Given the description of an element on the screen output the (x, y) to click on. 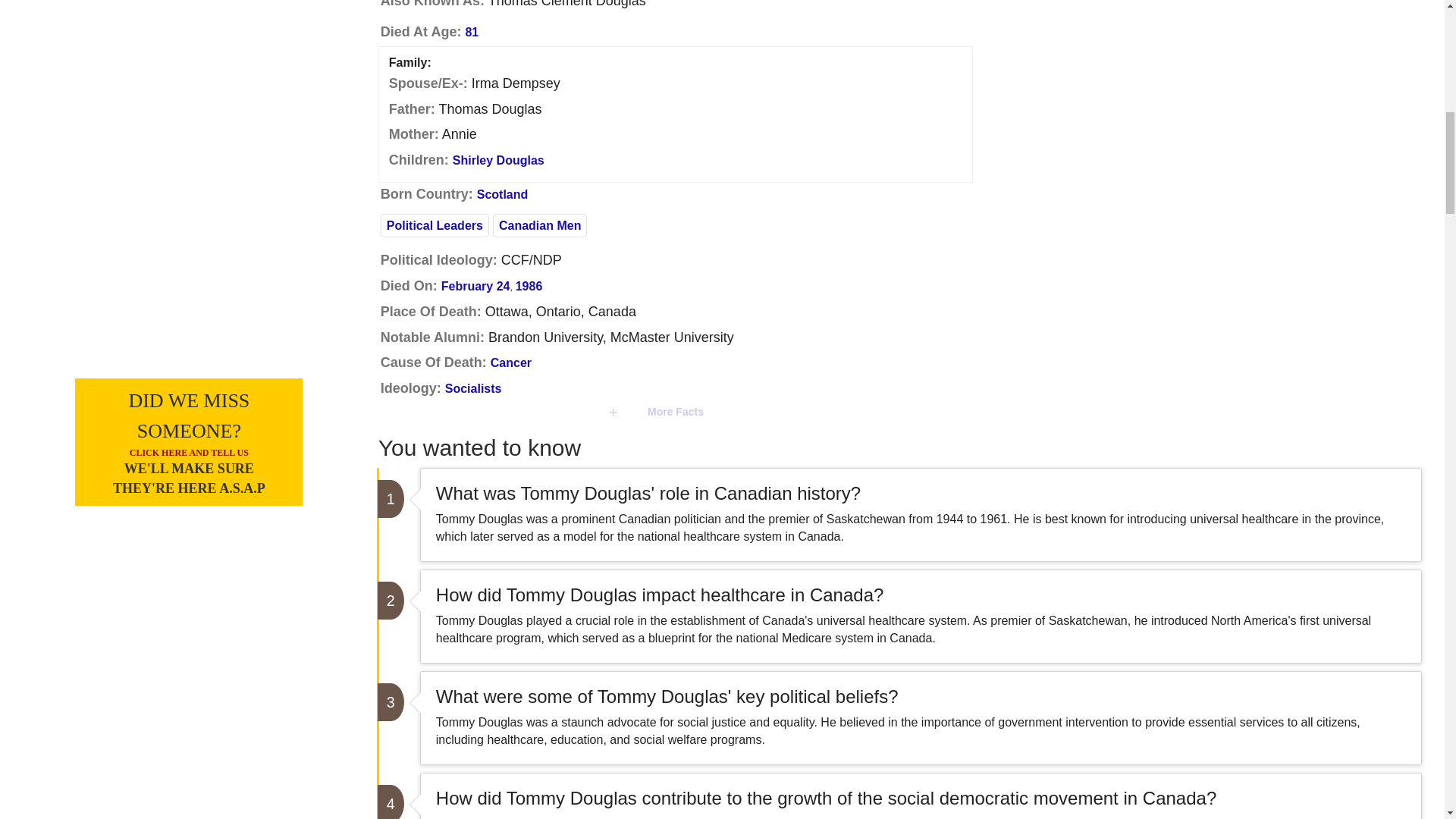
Shirley Douglas (498, 160)
Advertisement (1218, 63)
81 (471, 31)
